Given the description of an element on the screen output the (x, y) to click on. 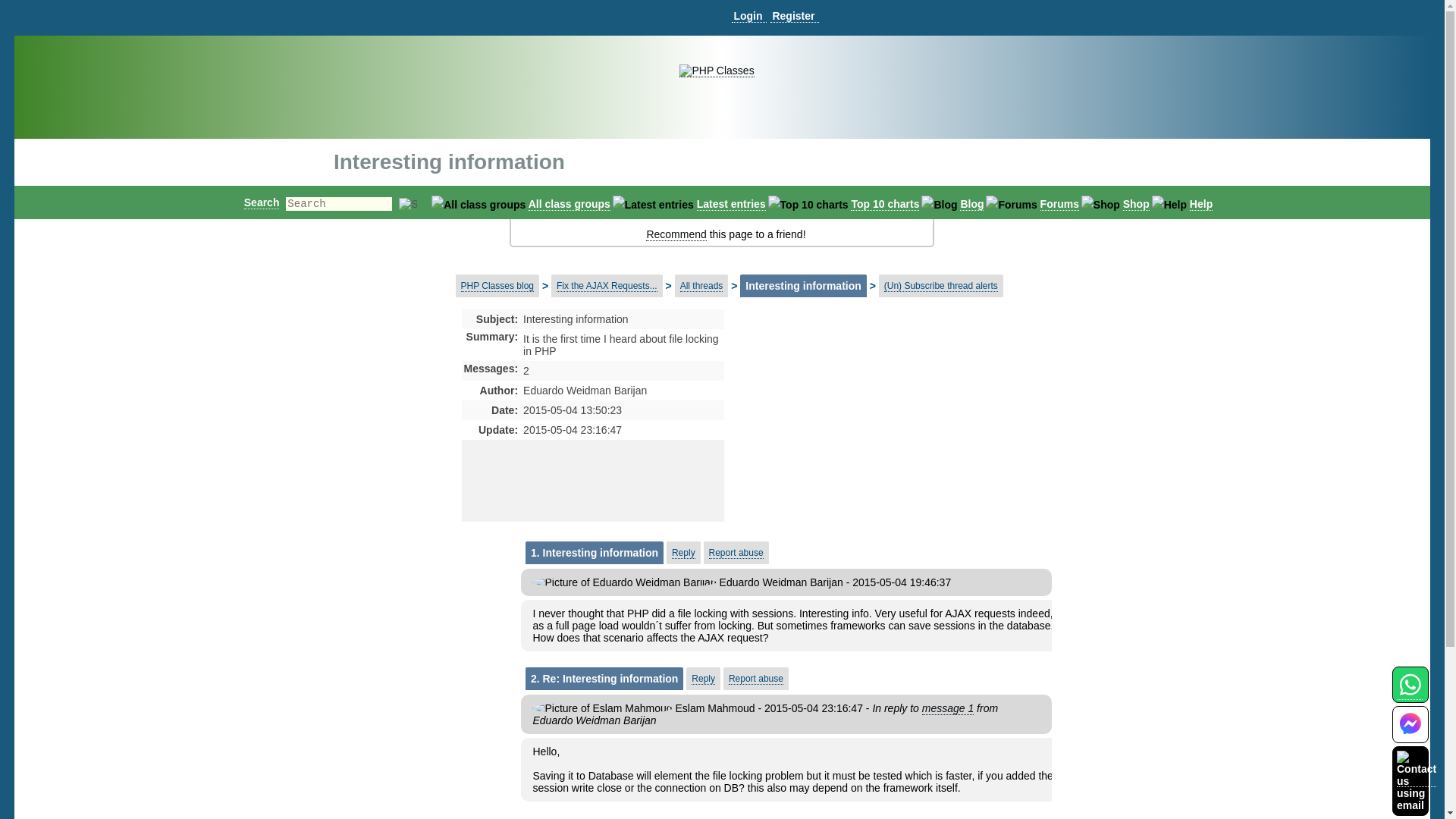
Latest entries (731, 204)
Fix the AJAX Requests... (607, 285)
Blog (971, 204)
Contact us using WhatsApp (1409, 693)
Top 10 charts (884, 204)
Contact us using Messenger (1409, 733)
PHP Classes blog (497, 285)
message 1 (947, 707)
All class groups (569, 204)
Search (261, 201)
Help (1200, 204)
Picture of Eduardo Weidman Barijan (624, 582)
All threads (701, 285)
Reply (683, 552)
Recommend (676, 234)
